Given the description of an element on the screen output the (x, y) to click on. 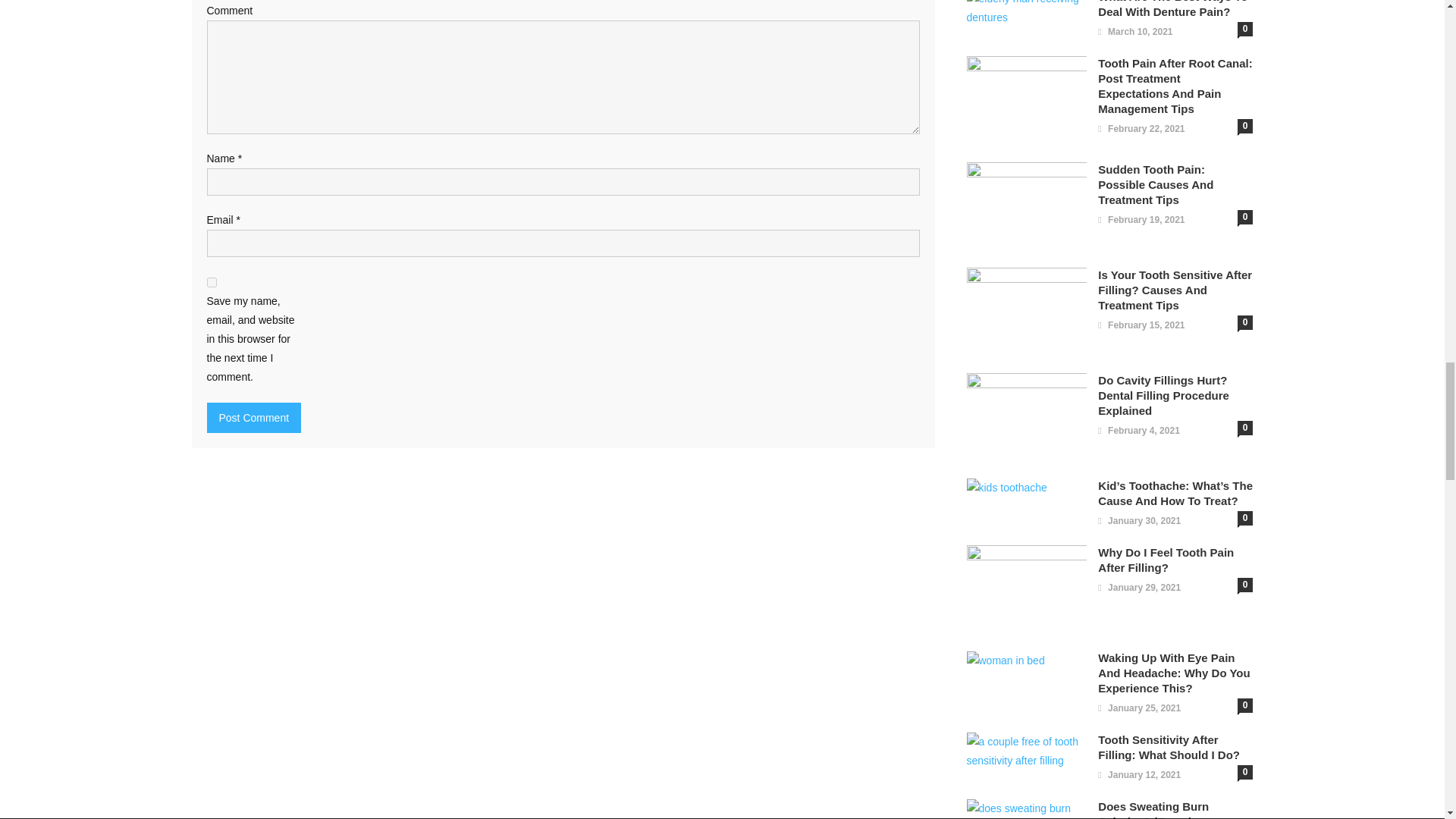
Post Comment (253, 417)
yes (210, 282)
